Given the description of an element on the screen output the (x, y) to click on. 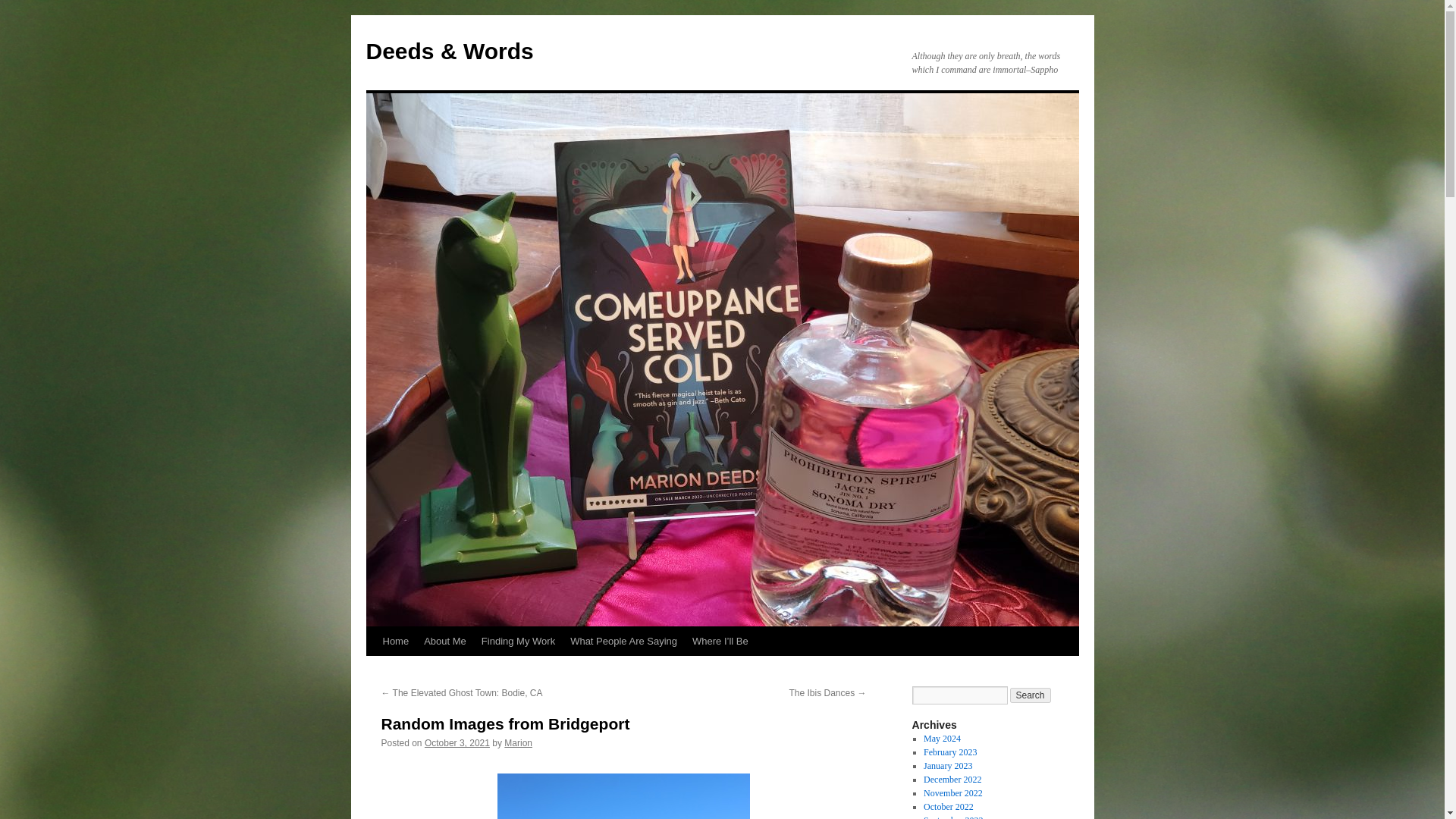
January 2023 (947, 765)
Finding My Work (518, 641)
What People Are Saying (623, 641)
February 2023 (949, 751)
8:56 am (457, 742)
Search (1030, 694)
View all posts by Marion (517, 742)
December 2022 (952, 778)
About Me (445, 641)
May 2024 (941, 738)
October 3, 2021 (457, 742)
September 2022 (952, 816)
October 2022 (948, 806)
Home (395, 641)
Marion (517, 742)
